Given the description of an element on the screen output the (x, y) to click on. 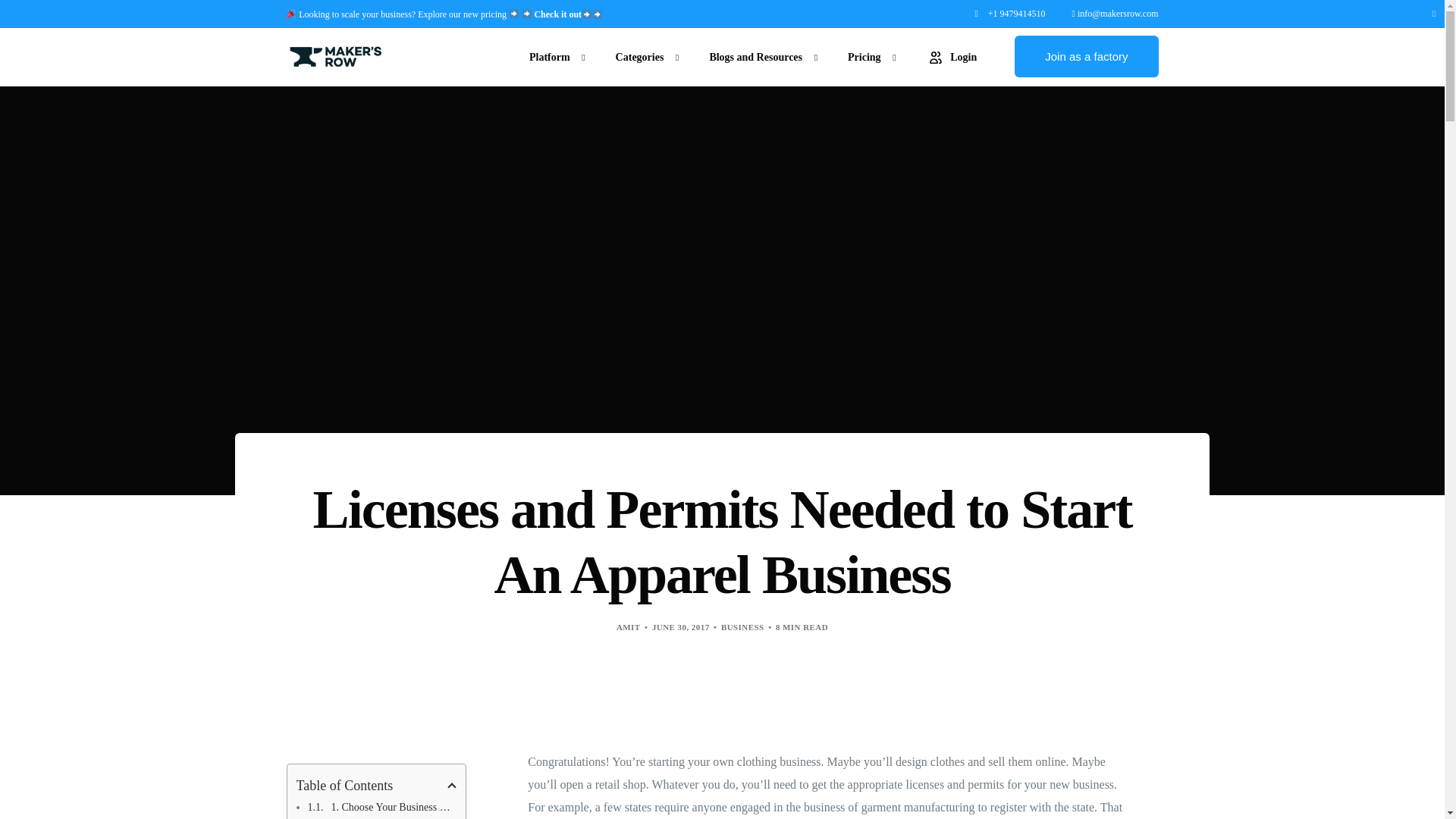
AMIT (627, 626)
Pricing (867, 56)
Categories (643, 56)
Posts by Amit (627, 626)
Blogs and Resources (759, 56)
BUSINESS (742, 626)
Check it out (568, 13)
Join as a factory (1085, 56)
Platform (553, 56)
Login (951, 56)
